Given the description of an element on the screen output the (x, y) to click on. 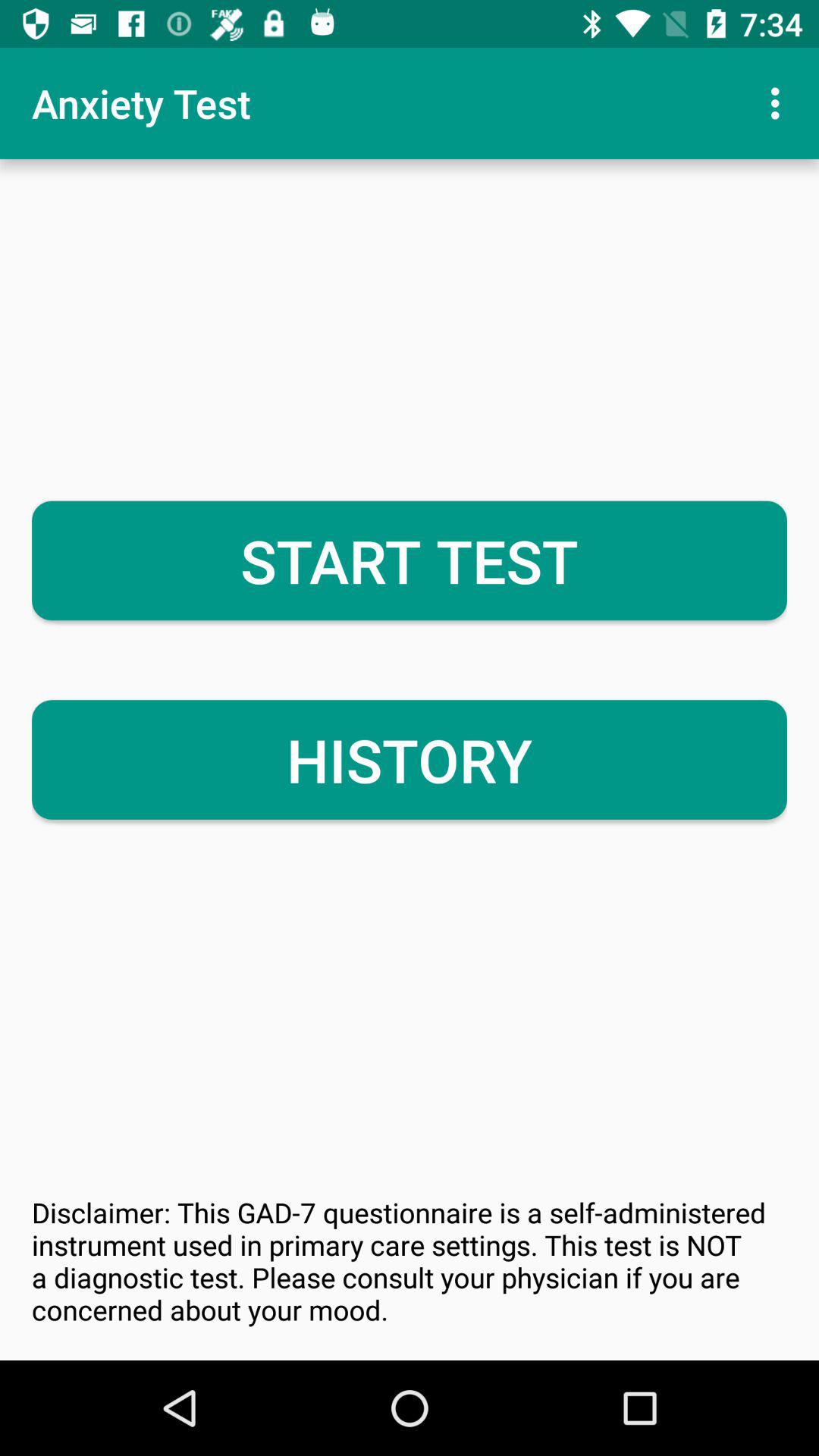
click the item to the right of anxiety test (779, 103)
